Given the description of an element on the screen output the (x, y) to click on. 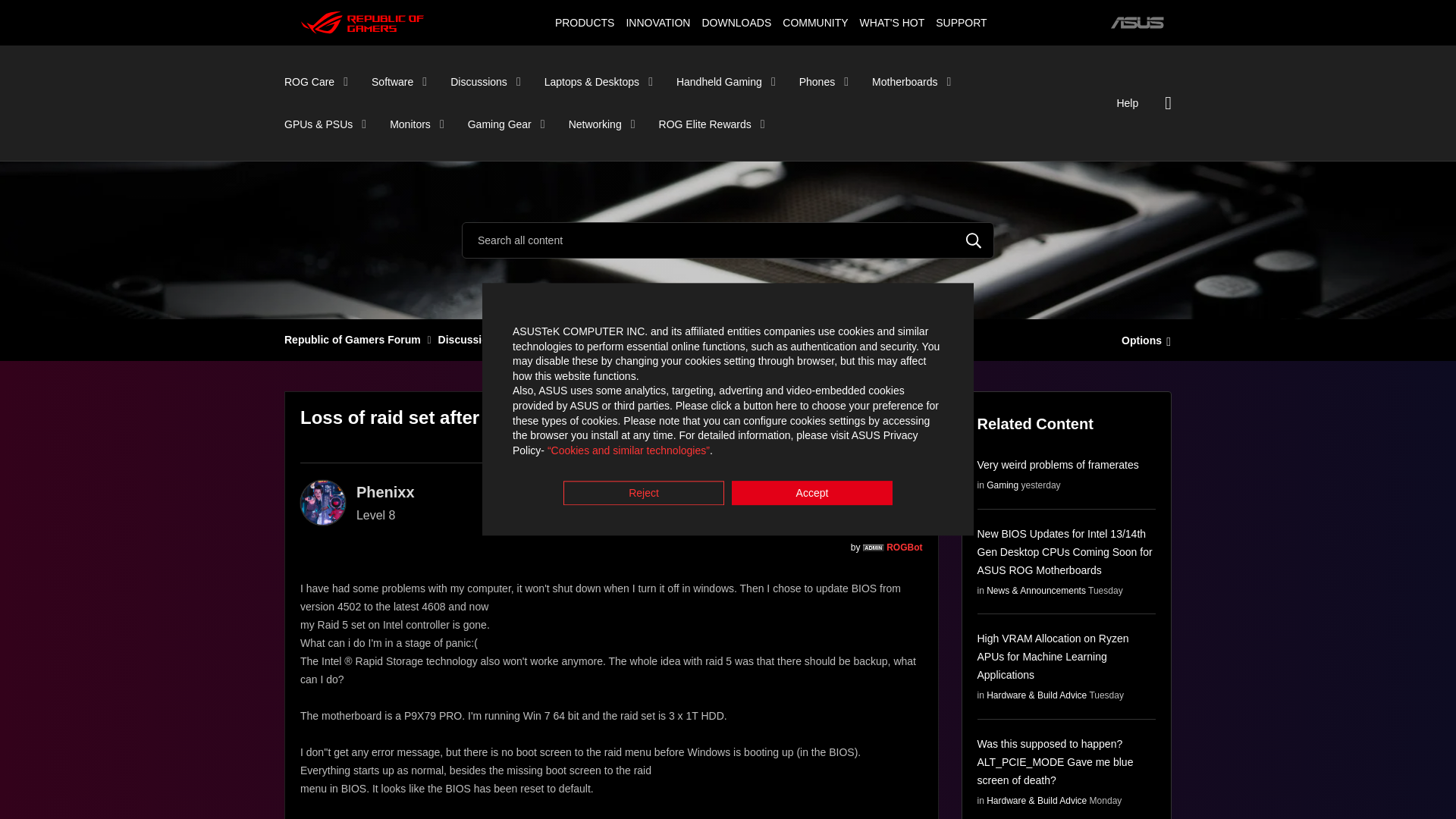
Search (727, 239)
COMMUNITY (815, 22)
INNOVATION (657, 22)
Show option menu (1142, 339)
Phenixx (322, 502)
Community Admin (873, 547)
Search (973, 239)
PRODUCTS (584, 22)
Search (973, 239)
DOWNLOADS (736, 22)
